Given the description of an element on the screen output the (x, y) to click on. 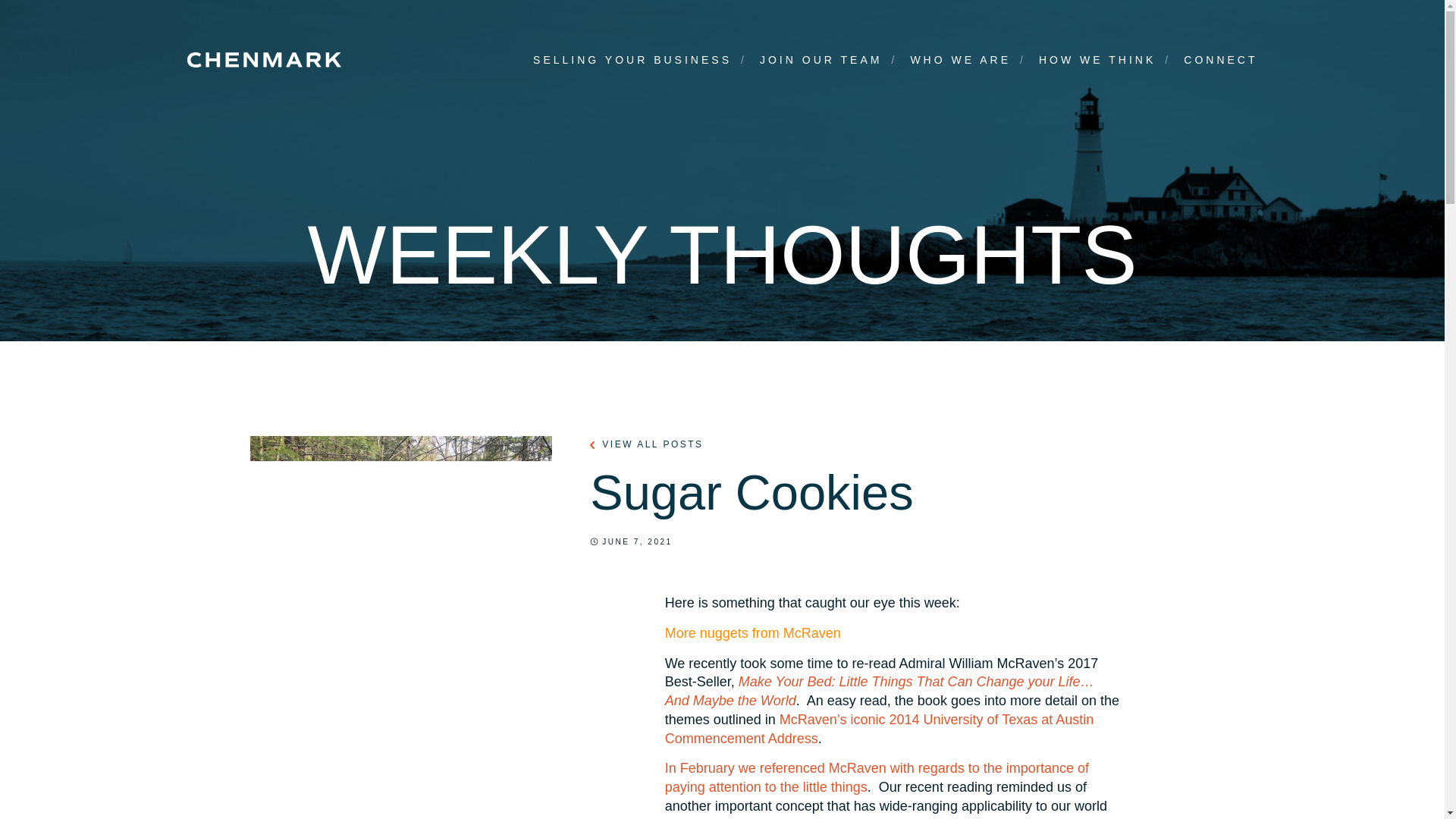
WHO WE ARE (960, 60)
CONNECT (1220, 60)
VIEW ALL POSTS (646, 444)
JOIN OUR TEAM (821, 60)
SELLING YOUR BUSINESS (632, 60)
HOW WE THINK (1097, 60)
